Given the description of an element on the screen output the (x, y) to click on. 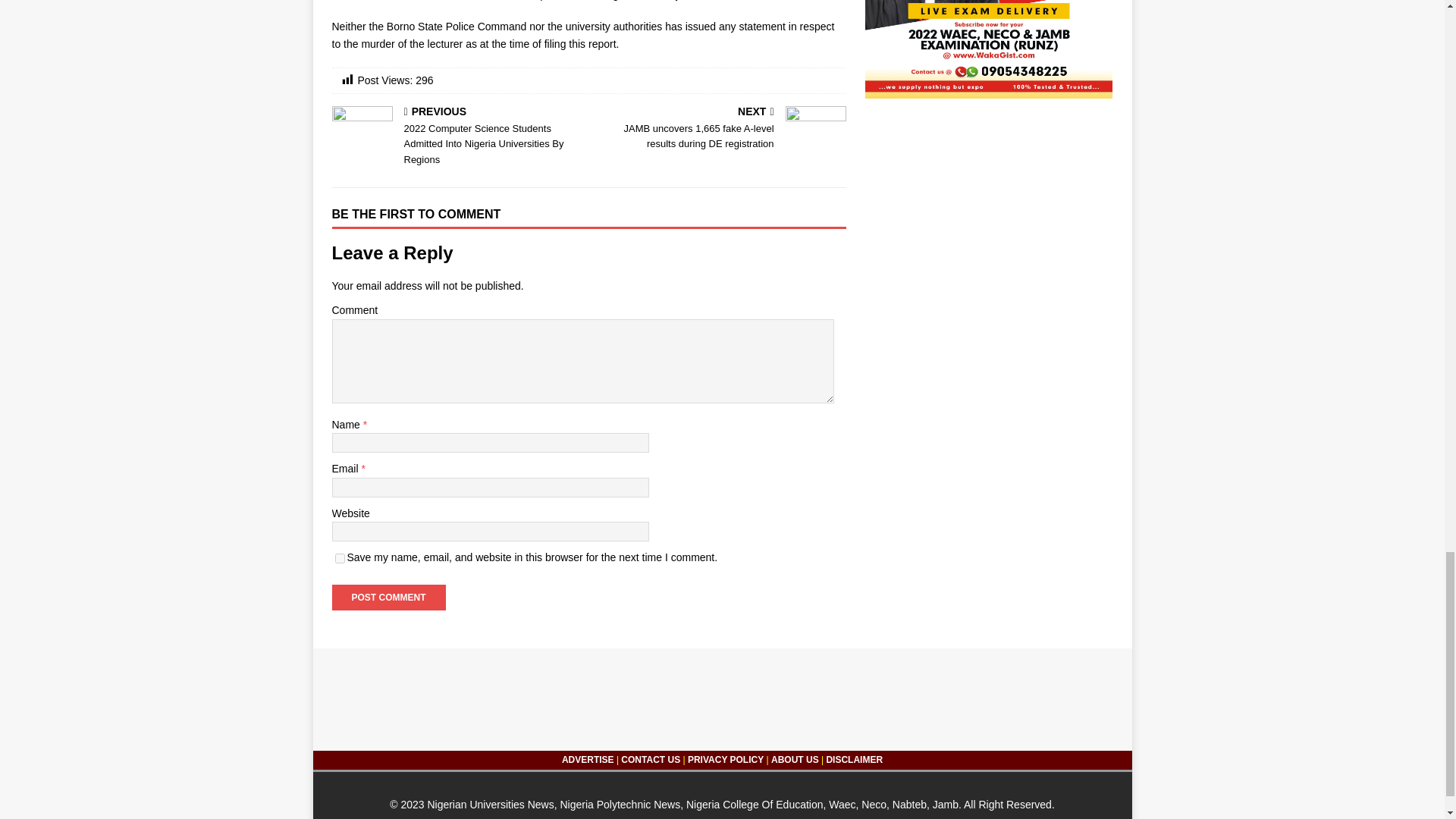
Post Comment (388, 597)
yes (339, 558)
Post Comment (388, 597)
